Given the description of an element on the screen output the (x, y) to click on. 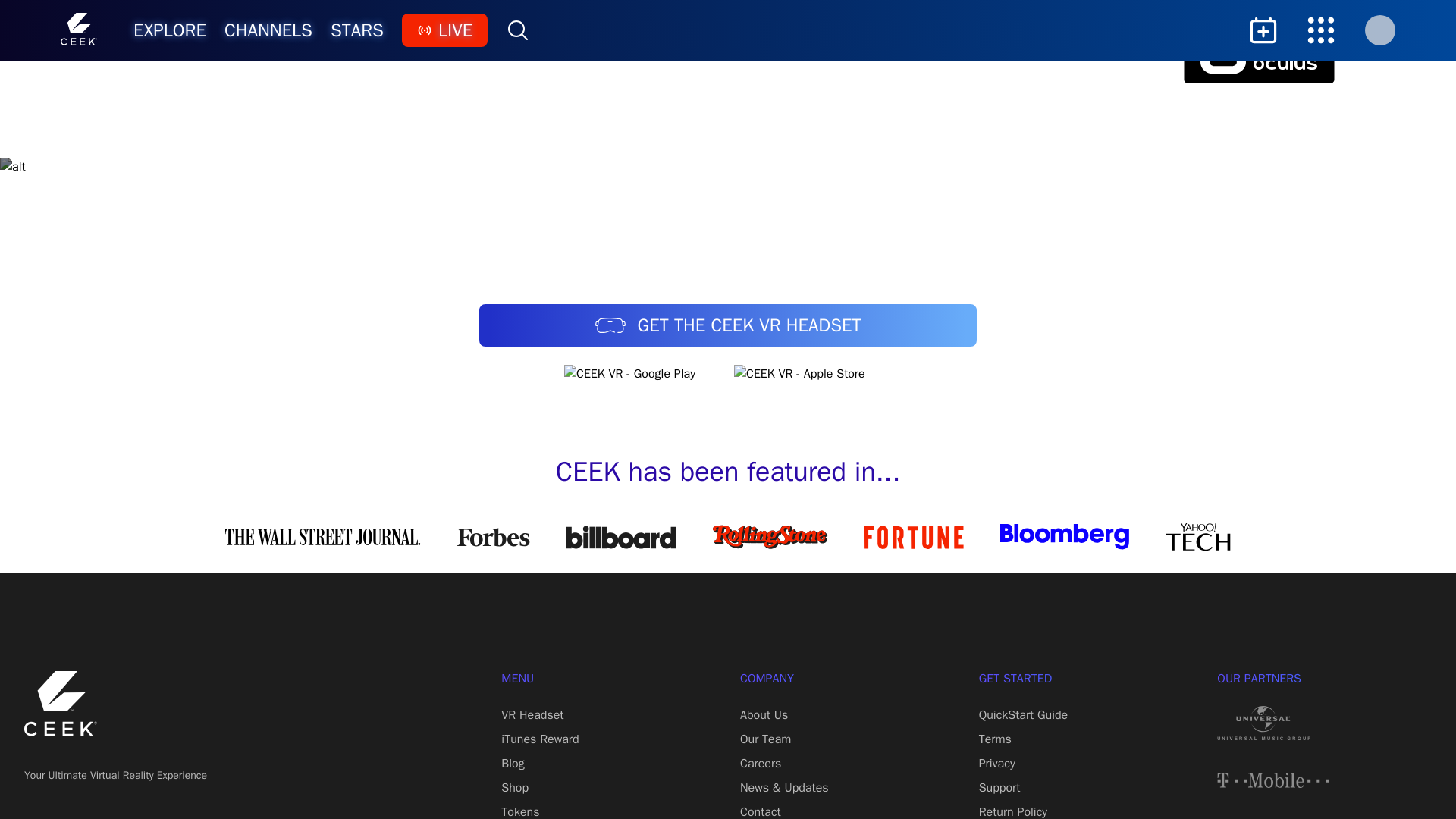
Contact (759, 811)
Privacy (996, 763)
Blog (512, 763)
GET THE CEEK VR HEADSET (727, 324)
About Us (763, 714)
Tokens (519, 811)
Careers (759, 763)
Our Team (764, 739)
Shop (514, 787)
iTunes Reward (539, 739)
